Given the description of an element on the screen output the (x, y) to click on. 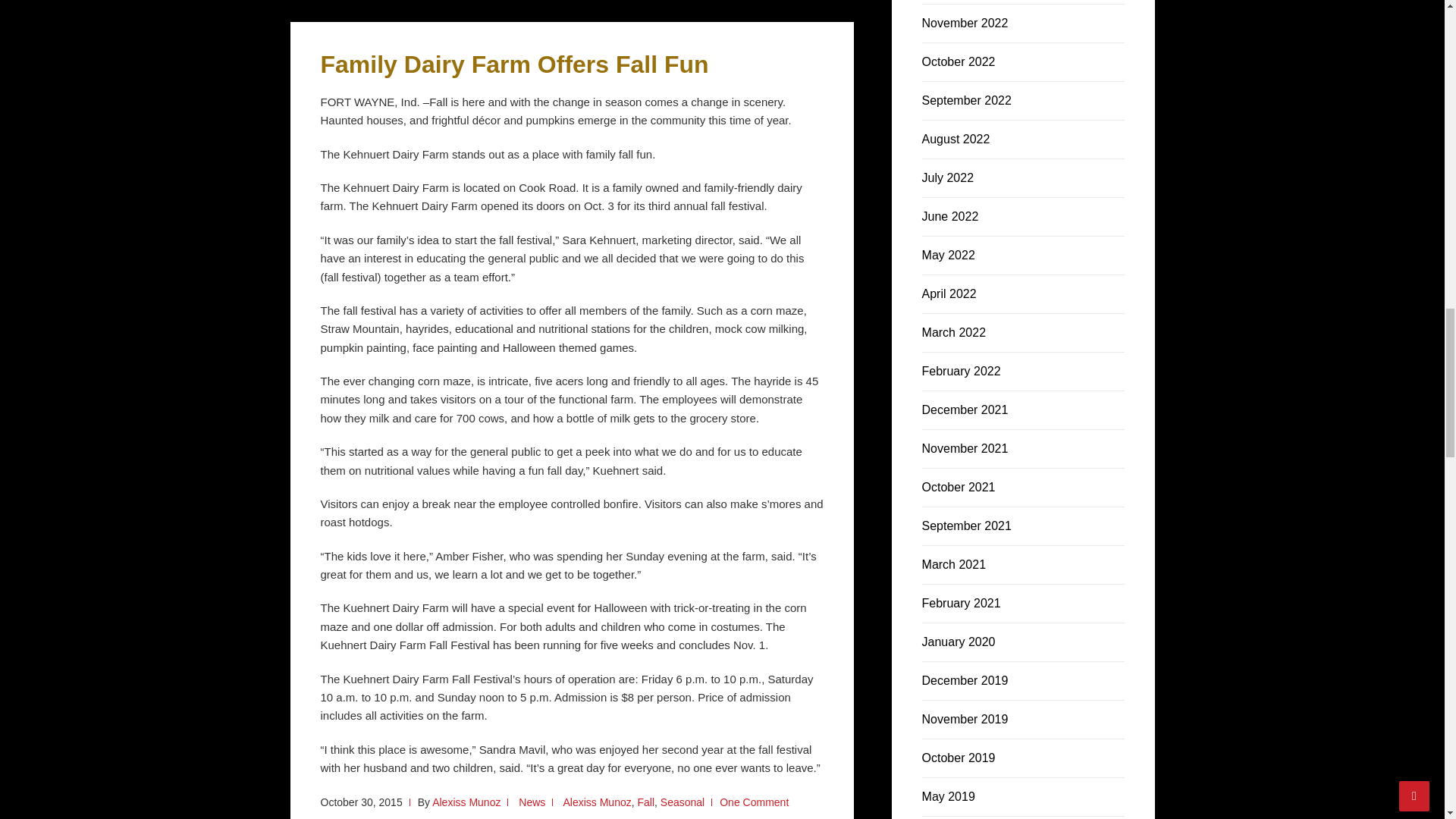
Fall (645, 802)
One Comment (754, 802)
News (531, 802)
Family Dairy Farm Offers Fall Fun (513, 63)
Seasonal (682, 802)
Alexiss Munoz (596, 802)
View all posts by Alexiss Munoz (466, 802)
Alexiss Munoz (466, 802)
